Given the description of an element on the screen output the (x, y) to click on. 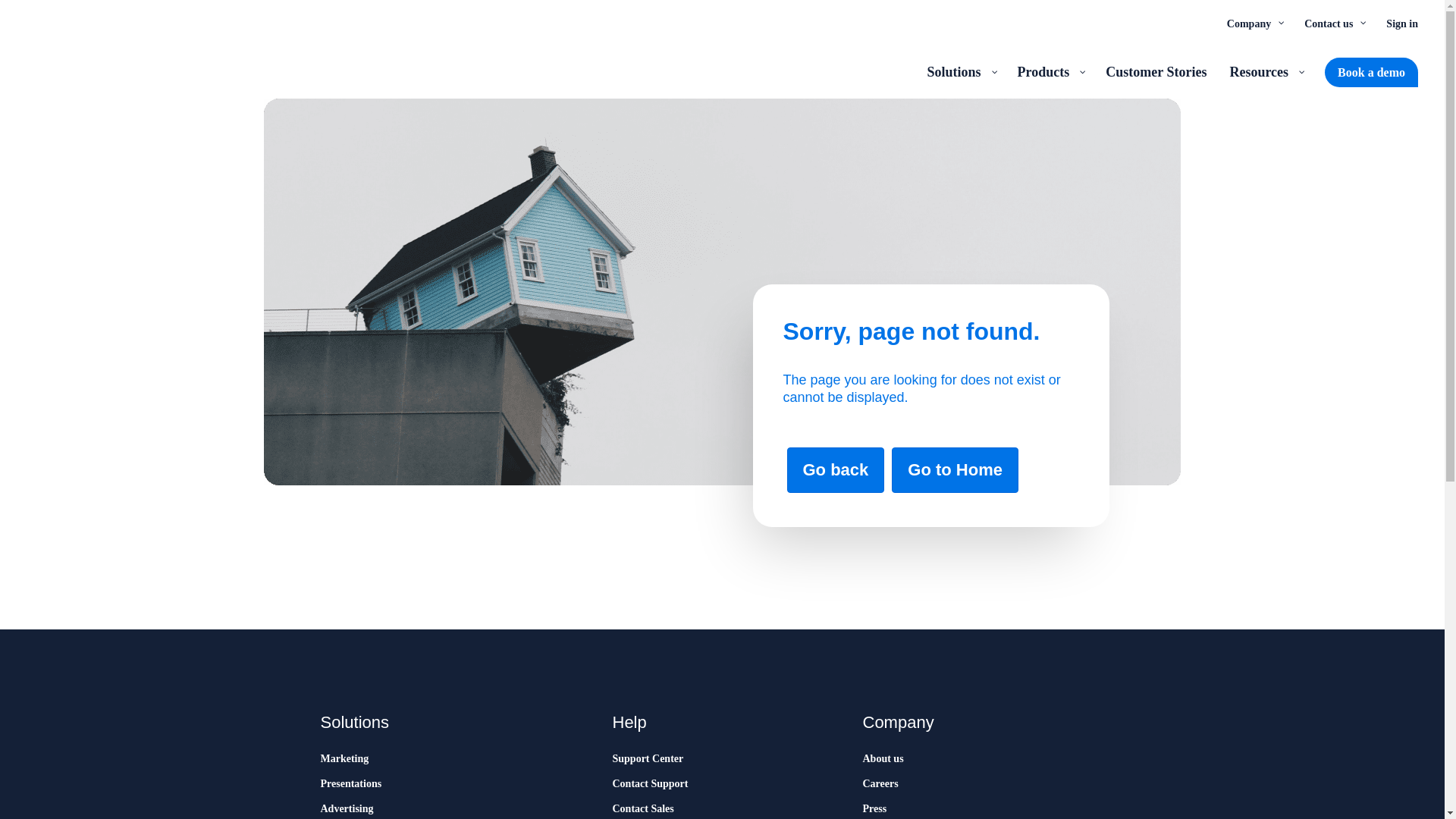
Solutions (960, 72)
Contact us (1333, 22)
Sign in (1401, 22)
Company (1253, 22)
Products (1050, 72)
